Given the description of an element on the screen output the (x, y) to click on. 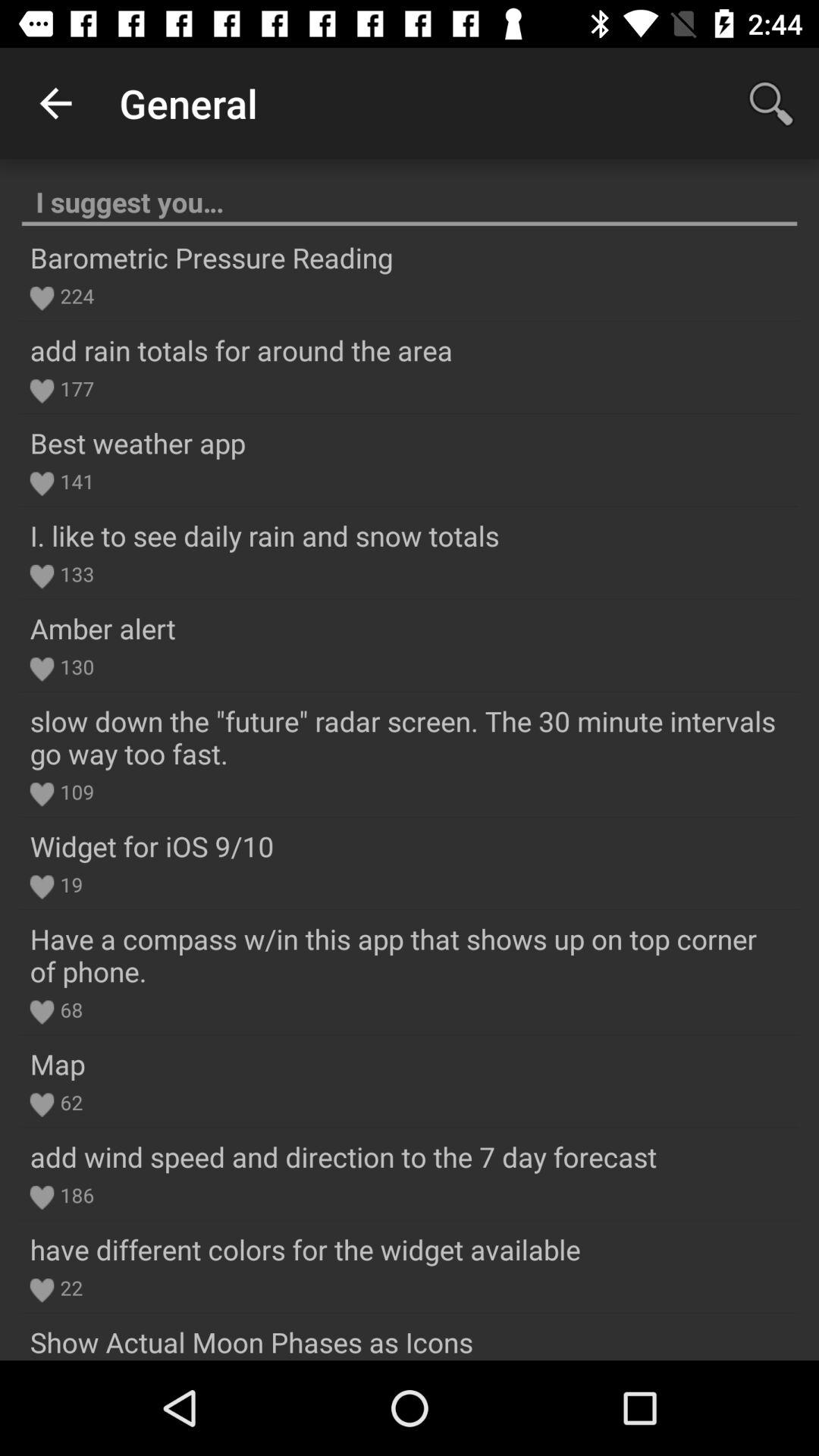
tap the icon next to the 109 item (42, 794)
